Given the description of an element on the screen output the (x, y) to click on. 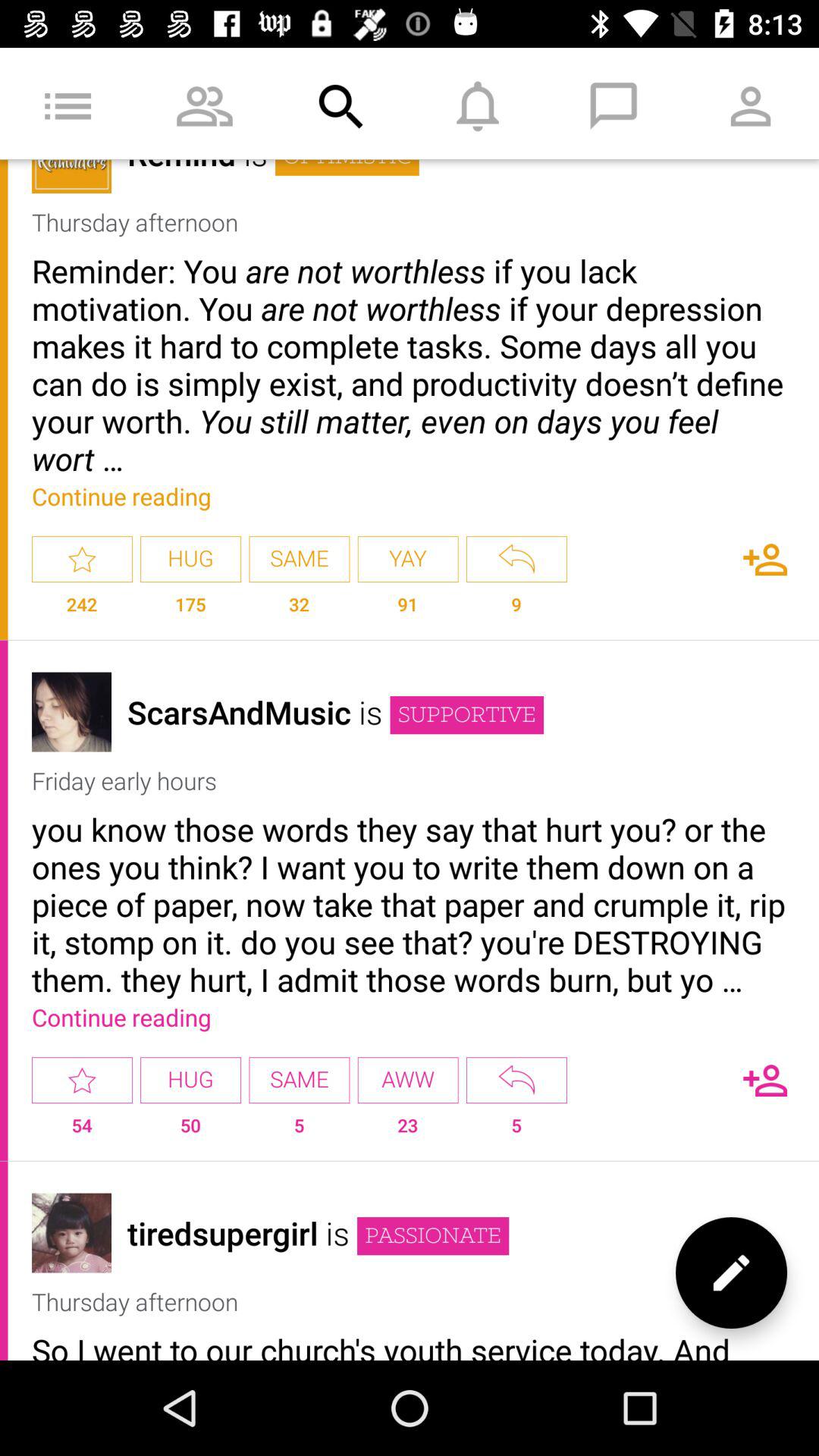
tap item to the right of the yay icon (516, 610)
